Given the description of an element on the screen output the (x, y) to click on. 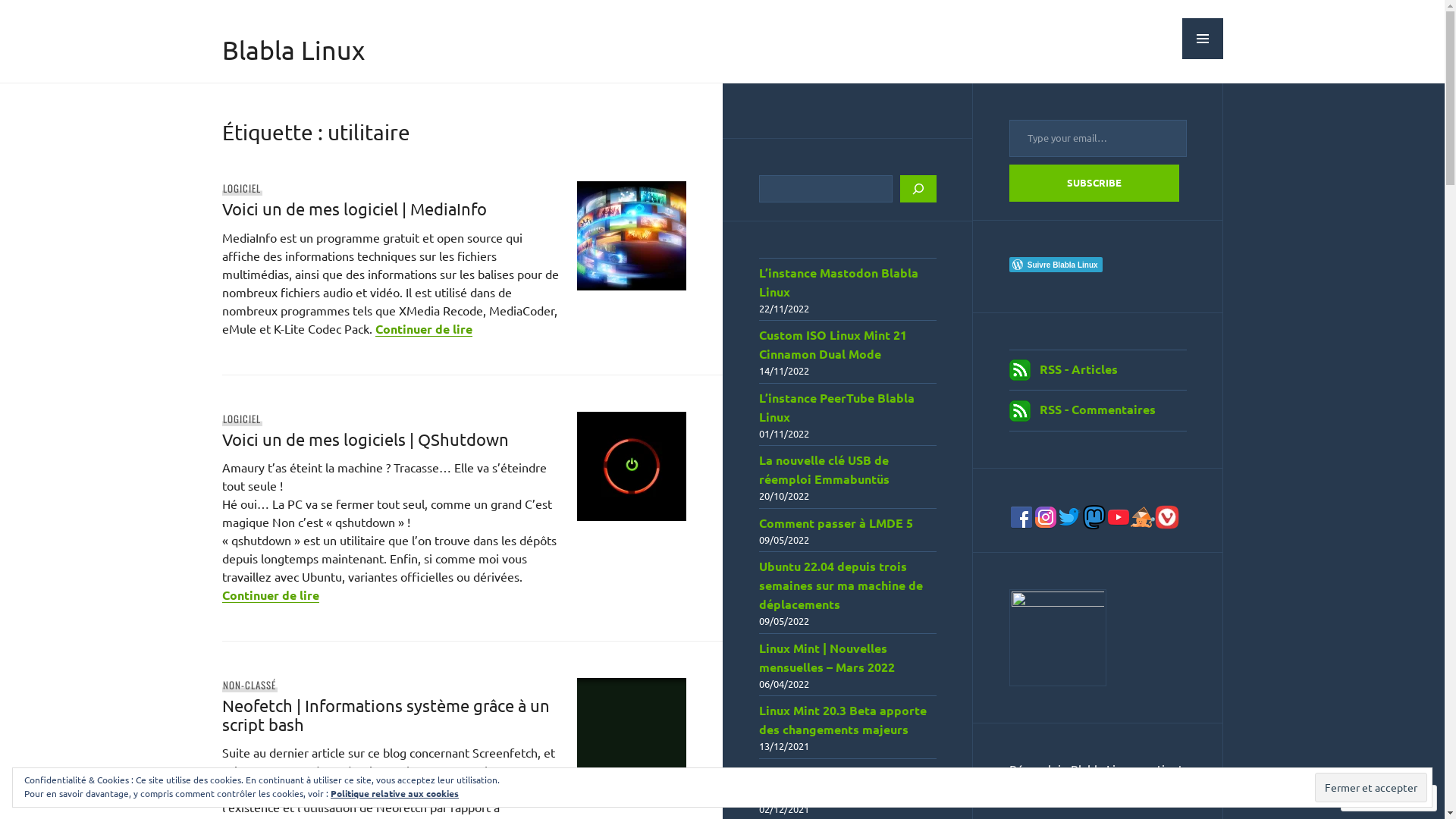
Linux Mint 20.3 Beta apporte des changements majeurs Element type: text (841, 719)
Continuer de lire Element type: text (422, 328)
Voici un de mes logiciel | MediaInfo Element type: text (353, 208)
LOGICIEL Element type: text (241, 418)
Custom ISO Linux Mint 21 Cinnamon Dual Mode Element type: text (832, 343)
Politique relative aux cookies Element type: text (394, 793)
RSS - Commentaires Element type: text (1096, 409)
Voici un de mes logiciels | QShutdown Element type: text (364, 438)
Suivre Element type: text (1374, 797)
Fermer et accepter Element type: text (1370, 787)
Blabla Linux Element type: text (292, 49)
RSS - Articles Element type: text (1077, 368)
SUBSCRIBE Element type: text (1093, 182)
LOGICIEL Element type: text (241, 187)
Continuer de lire Element type: text (269, 594)
